Given the description of an element on the screen output the (x, y) to click on. 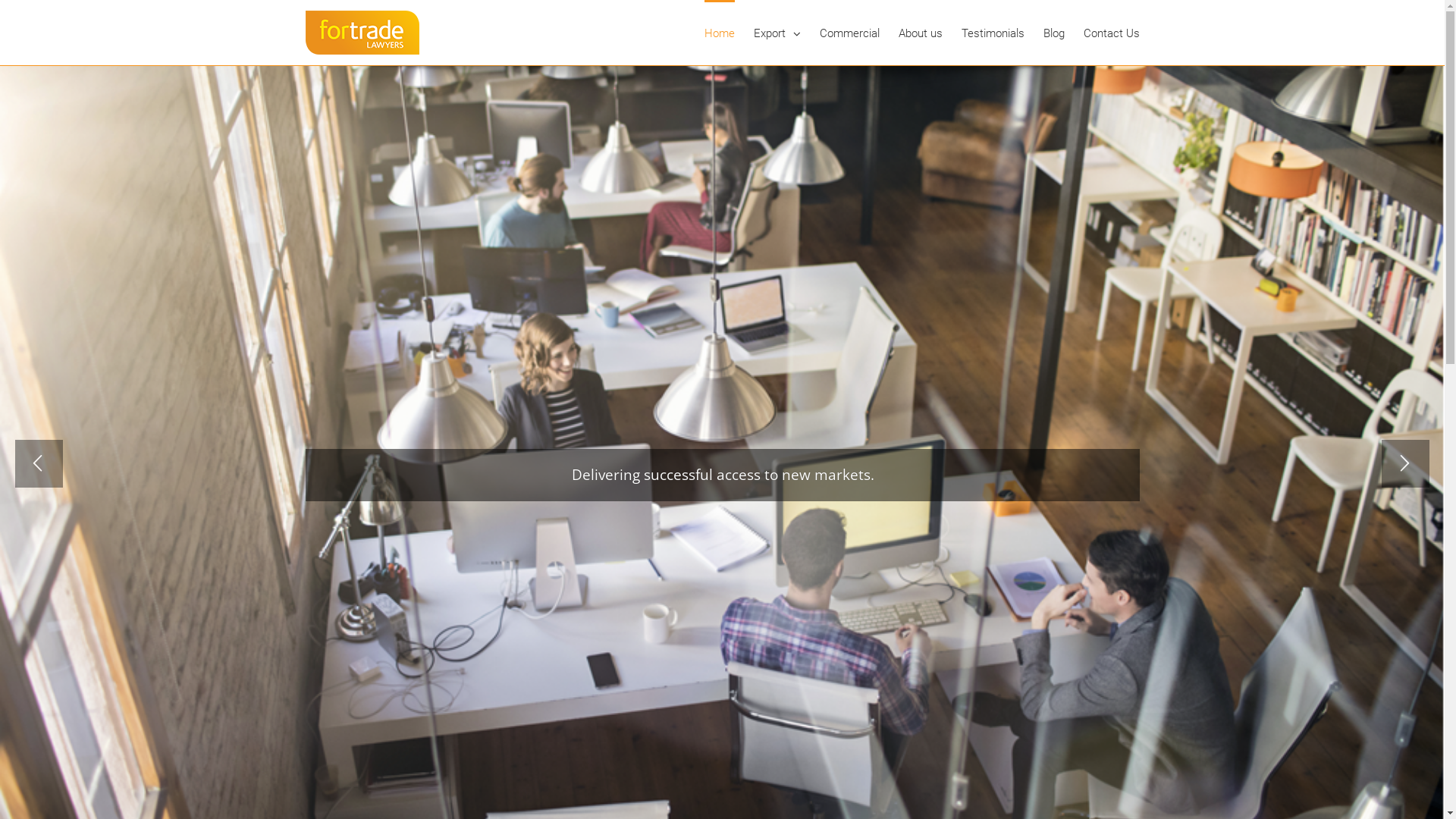
About us Element type: text (919, 32)
Blog Element type: text (1053, 32)
Home Element type: text (718, 32)
Commercial Element type: text (848, 32)
Contact Us Element type: text (1110, 32)
Testimonials Element type: text (992, 32)
Export Element type: text (776, 32)
